Given the description of an element on the screen output the (x, y) to click on. 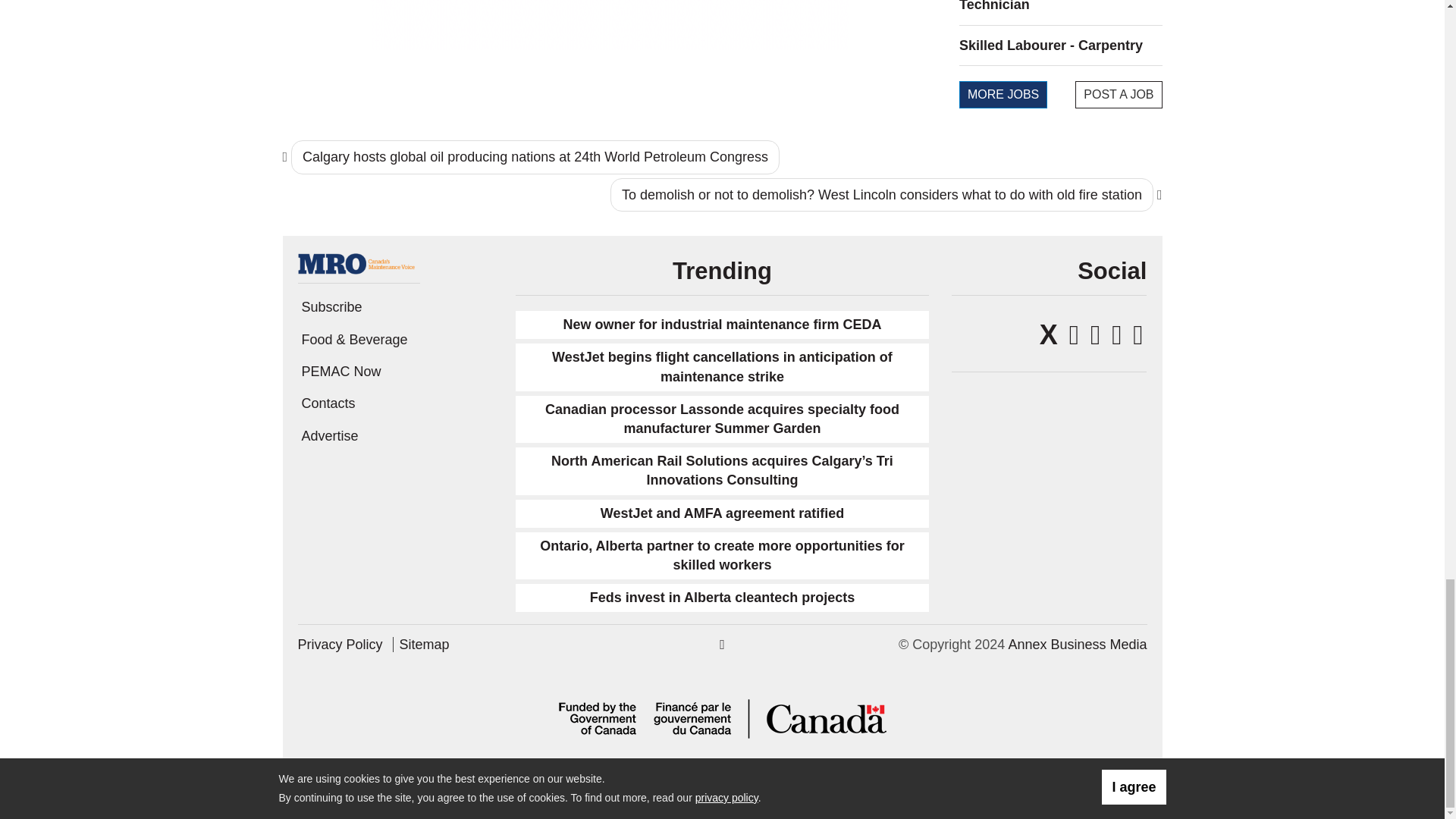
3rd party ad content (609, 24)
MRO Magazine (358, 263)
Annex Business Media (1077, 644)
